Given the description of an element on the screen output the (x, y) to click on. 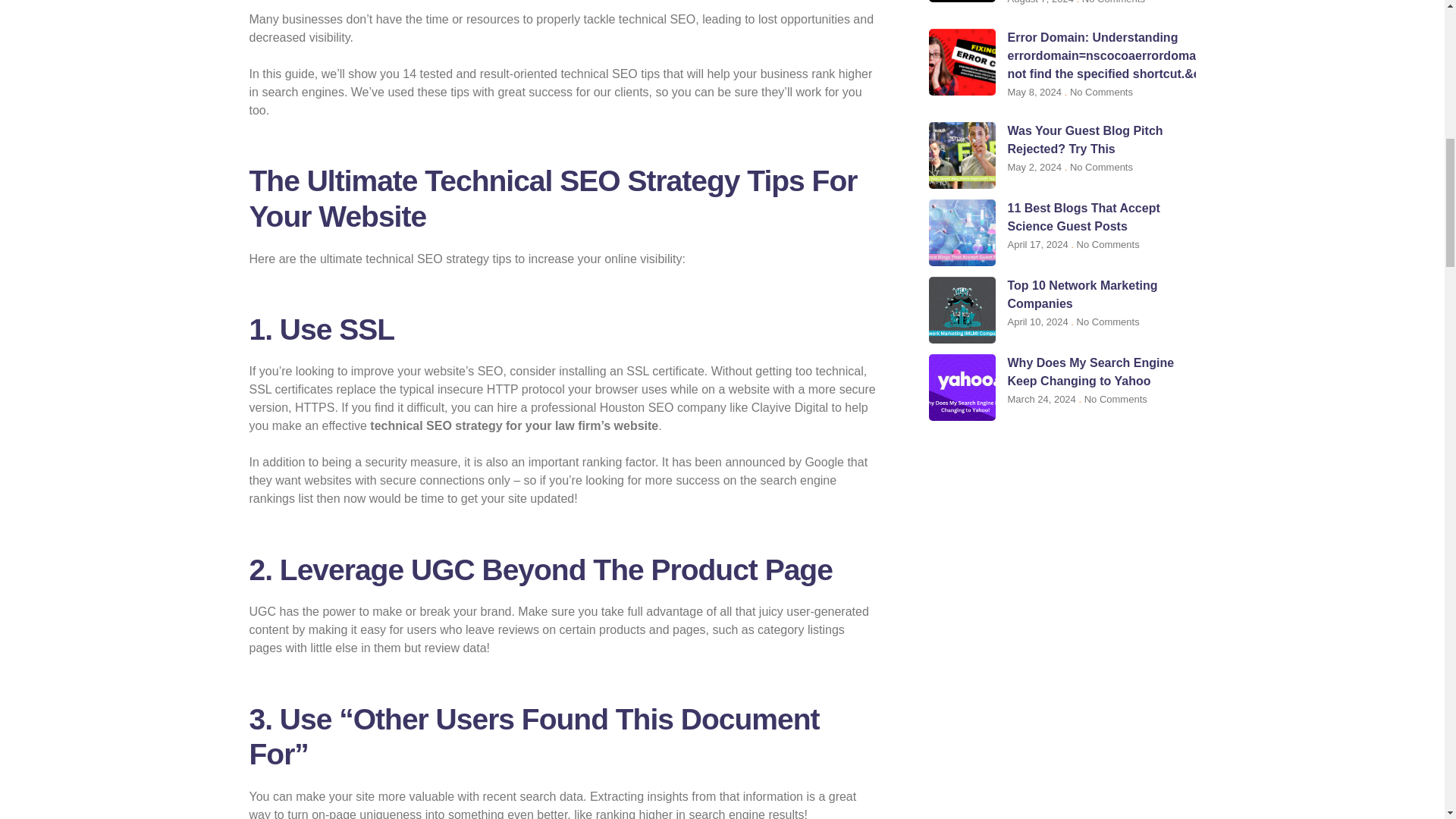
Was Your Guest Blog Pitch Rejected? Try This (1084, 139)
Why Does My Search Engine Keep Changing to Yahoo (1090, 371)
11 Best Blogs That Accept Science Guest Posts (1082, 216)
Top 10 Network Marketing Companies (1082, 294)
